Given the description of an element on the screen output the (x, y) to click on. 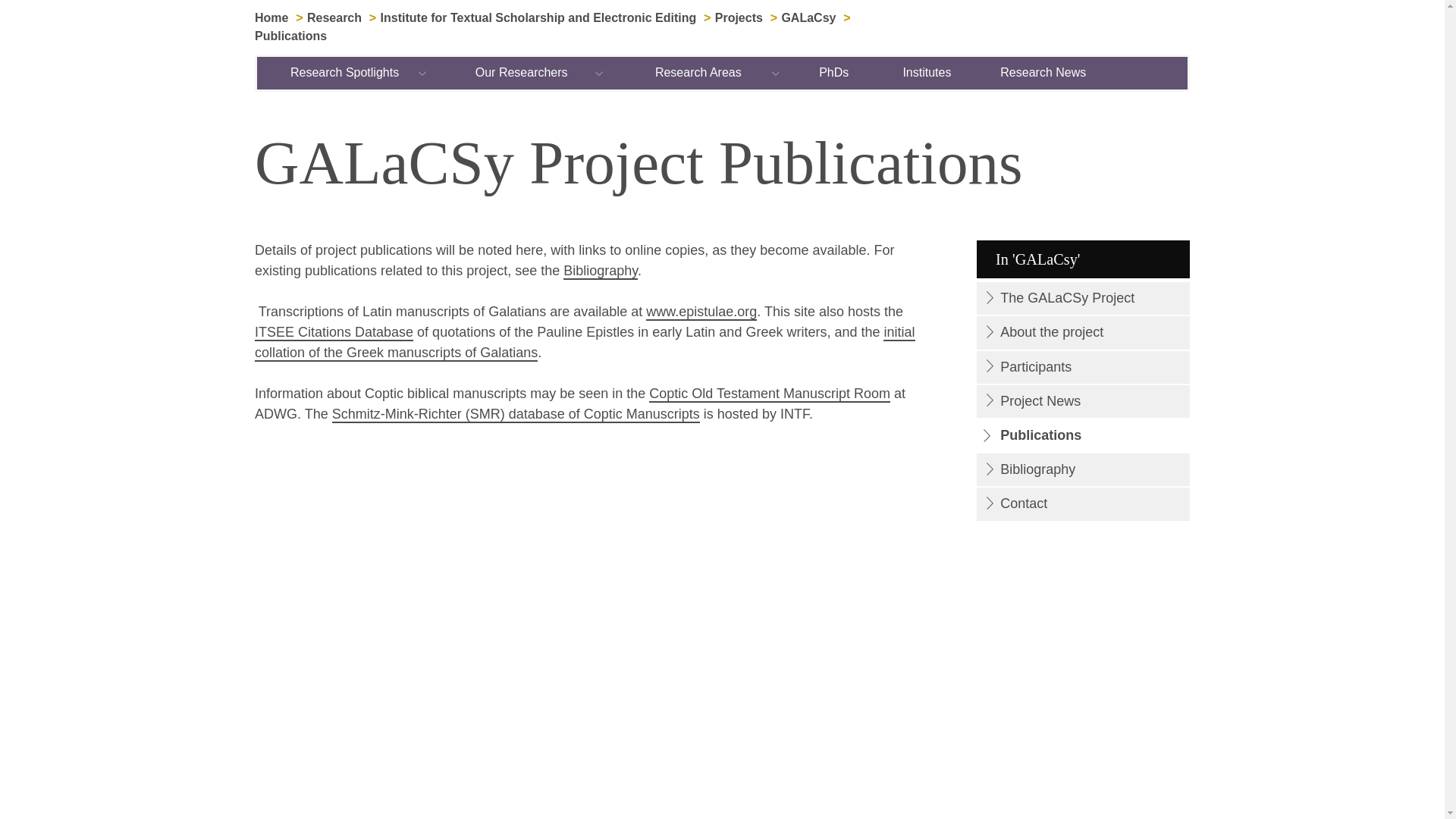
Home (271, 18)
GALaCsy (807, 18)
Projects (738, 18)
Publications (290, 36)
Research Spotlights (345, 72)
Research (334, 18)
Institute for Textual Scholarship and Electronic Editing (538, 18)
Our Researchers (521, 72)
Research Areas (698, 72)
